Given the description of an element on the screen output the (x, y) to click on. 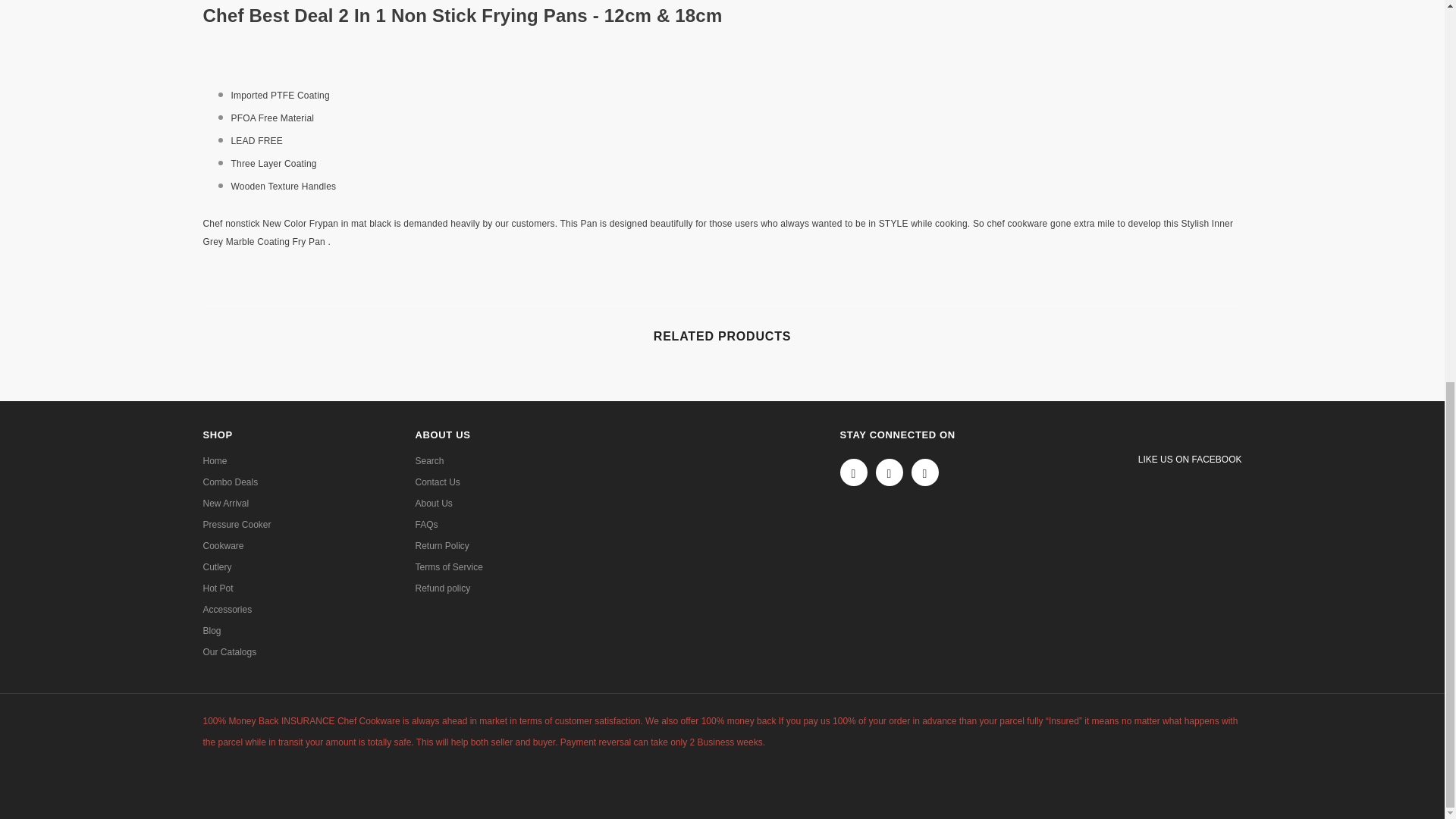
New Arrival (225, 503)
Home (215, 460)
Combo Deals (231, 482)
